Given the description of an element on the screen output the (x, y) to click on. 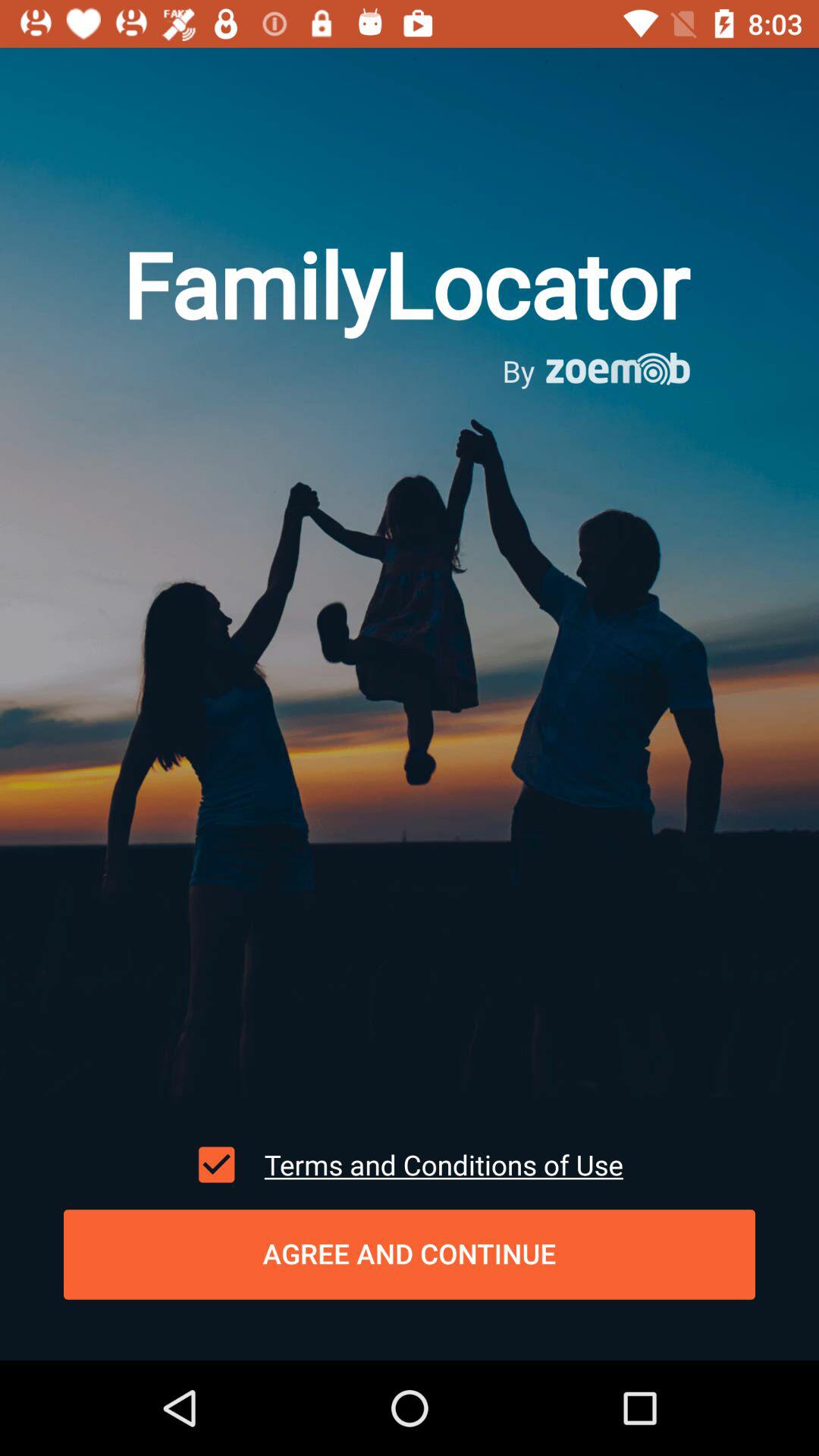
launch item at the bottom left corner (216, 1164)
